Given the description of an element on the screen output the (x, y) to click on. 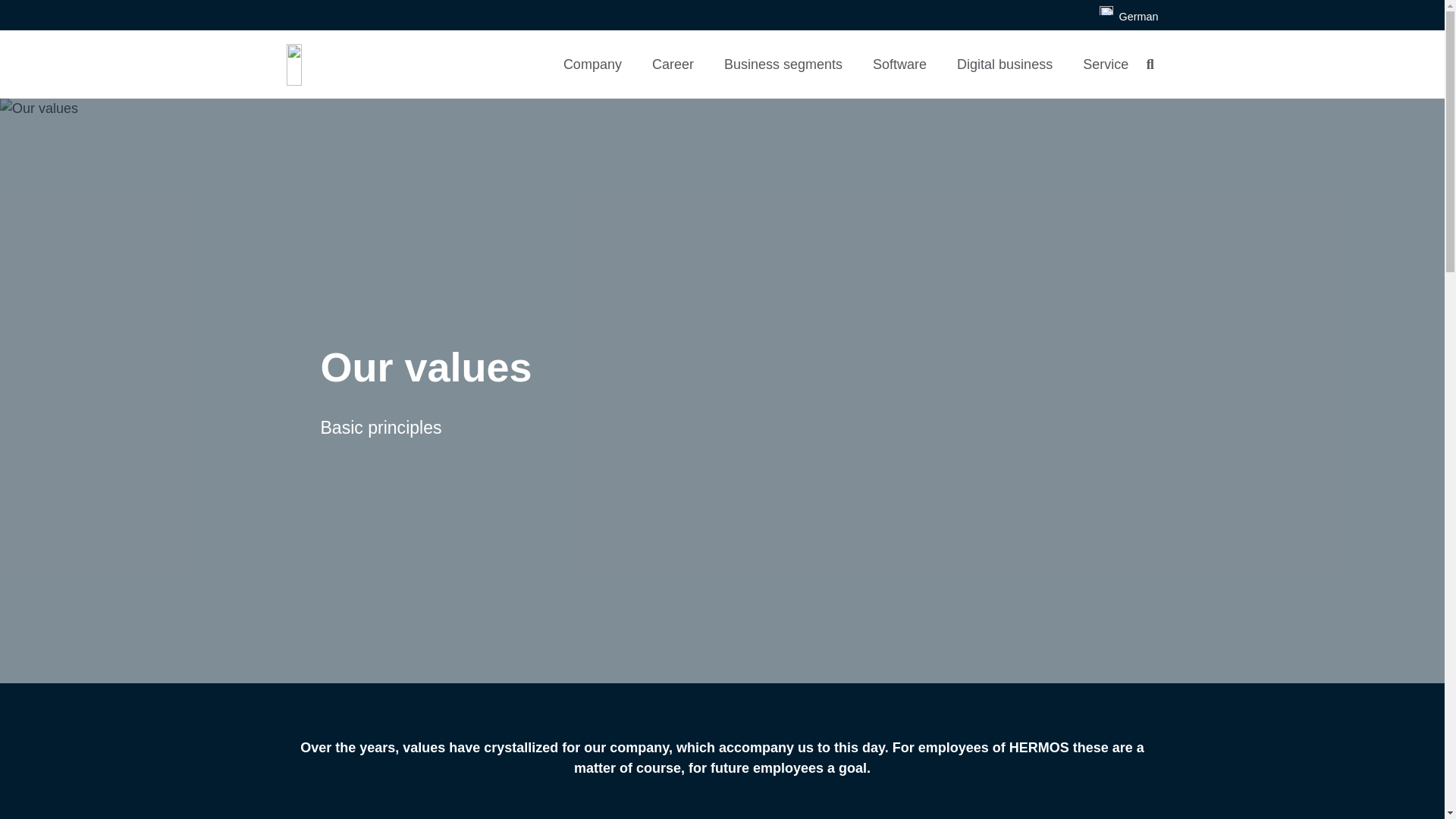
Career (673, 64)
German (1128, 16)
Software (899, 64)
Business segments (783, 64)
Company (592, 64)
